Given the description of an element on the screen output the (x, y) to click on. 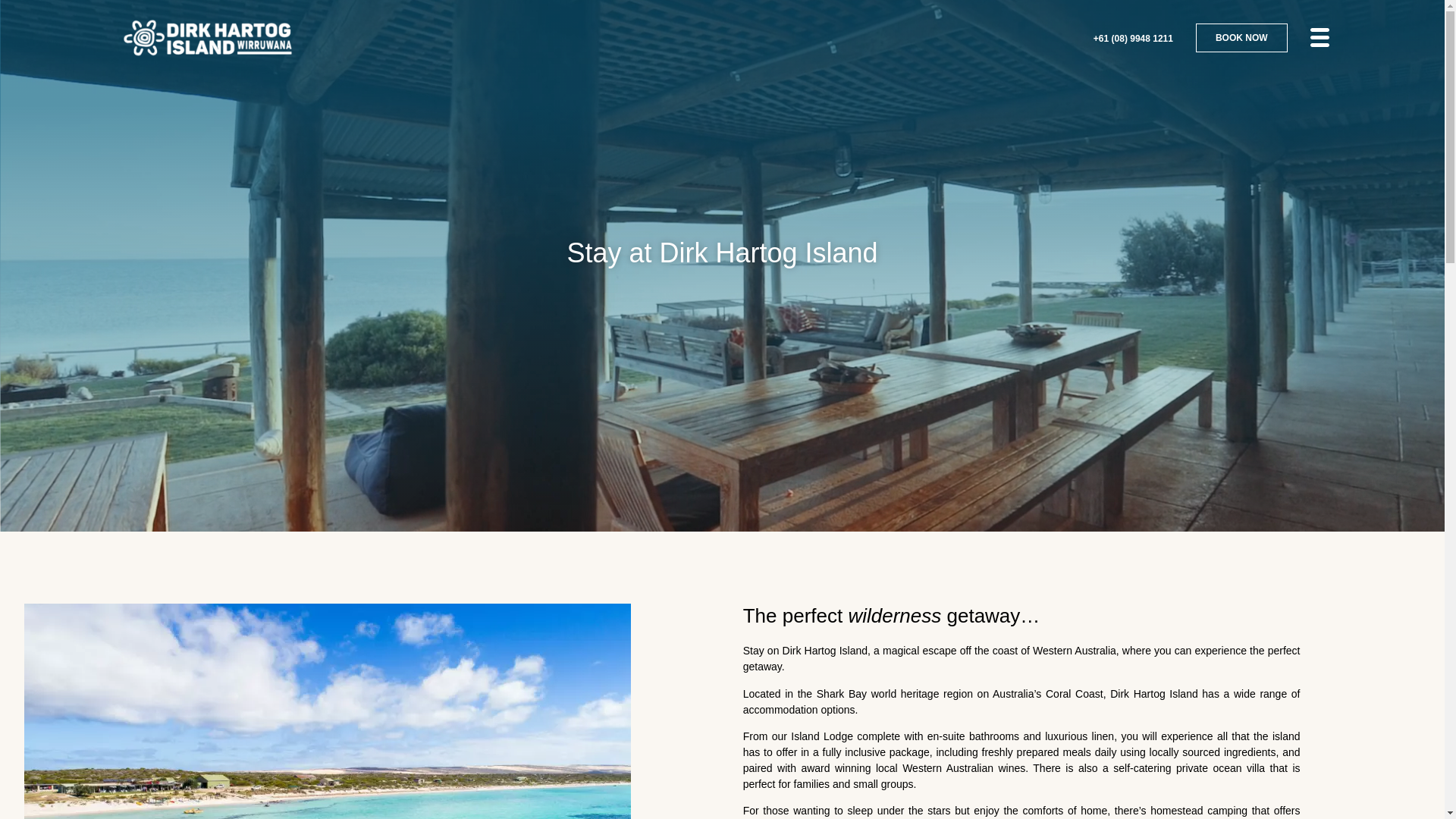
BOOK NOW Element type: text (1241, 37)
+61 (08) 9948 1211 Element type: text (1133, 37)
